Given the description of an element on the screen output the (x, y) to click on. 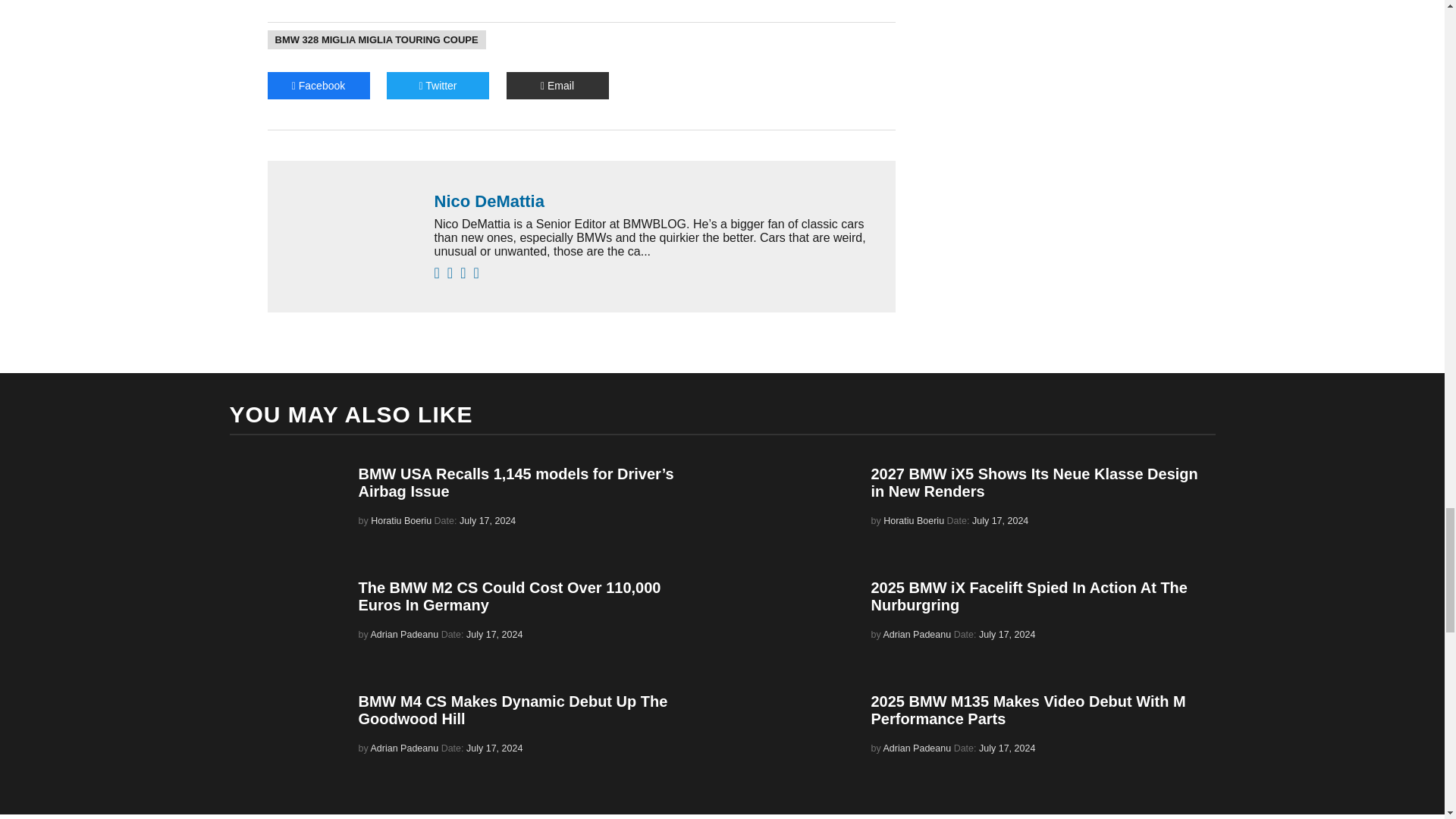
Facebook (317, 85)
Nico DeMattia (656, 200)
Twitter (438, 85)
